Given the description of an element on the screen output the (x, y) to click on. 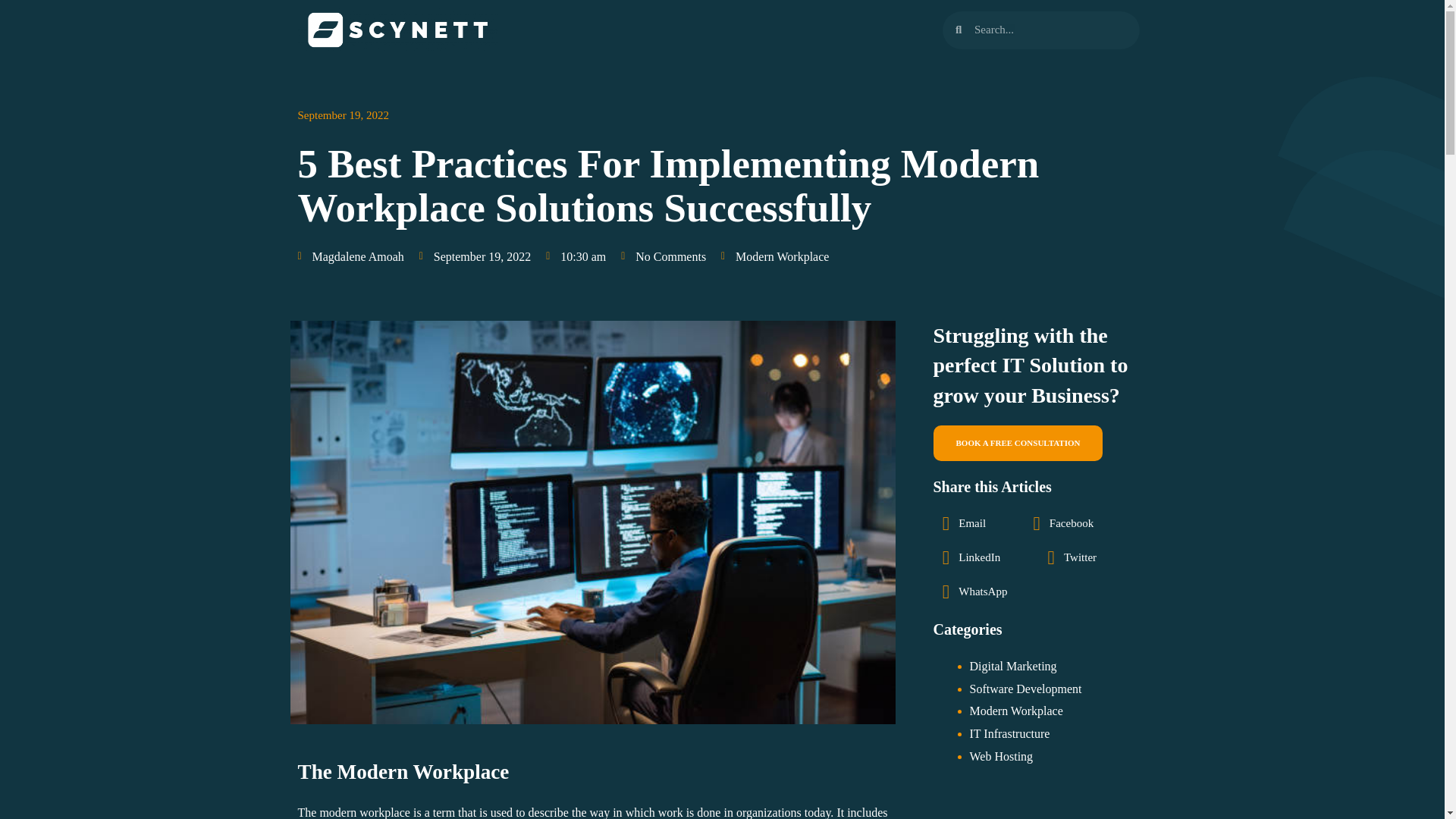
Search (1050, 30)
Modern Workplace (781, 256)
IT Infrastructure (1009, 733)
Digital Marketing (1013, 666)
Modern Workplace (1015, 710)
Magdalene Amoah (350, 256)
BOOK A FREE CONSULTATION (1017, 443)
September 19, 2022 (475, 256)
No Comments (663, 256)
Web Hosting (1000, 756)
September 19, 2022 (342, 115)
Software Development (1025, 688)
